Given the description of an element on the screen output the (x, y) to click on. 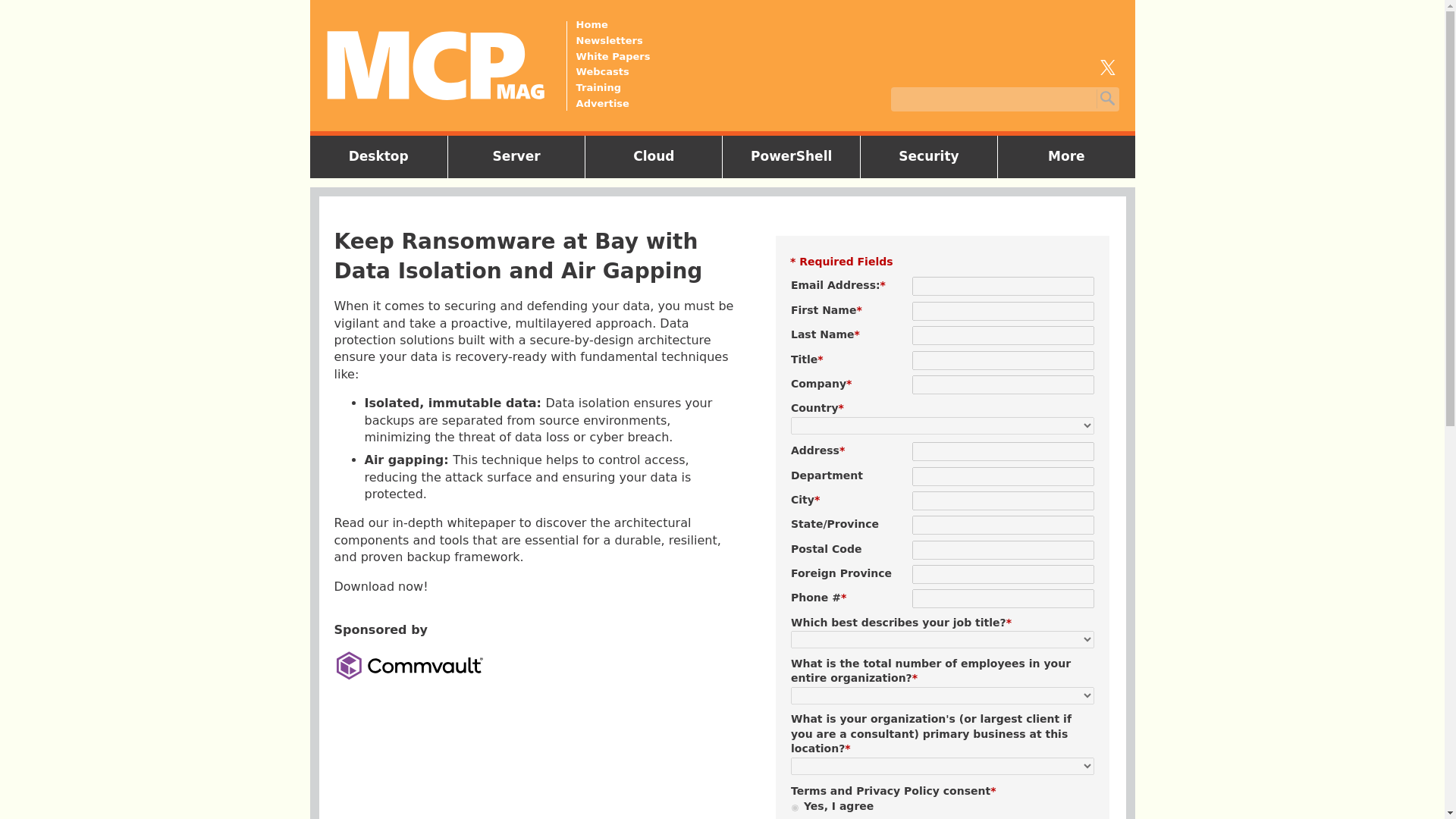
Search (1105, 98)
Desktop (378, 156)
Security (928, 156)
Home (613, 24)
Privacy Policy (897, 790)
Terms (808, 790)
Server (515, 156)
More (1067, 156)
Cloud (653, 156)
Webcasts (613, 71)
Search (1105, 98)
Newsletters (613, 40)
14812 (794, 808)
Advertise (613, 103)
Training (613, 87)
